Given the description of an element on the screen output the (x, y) to click on. 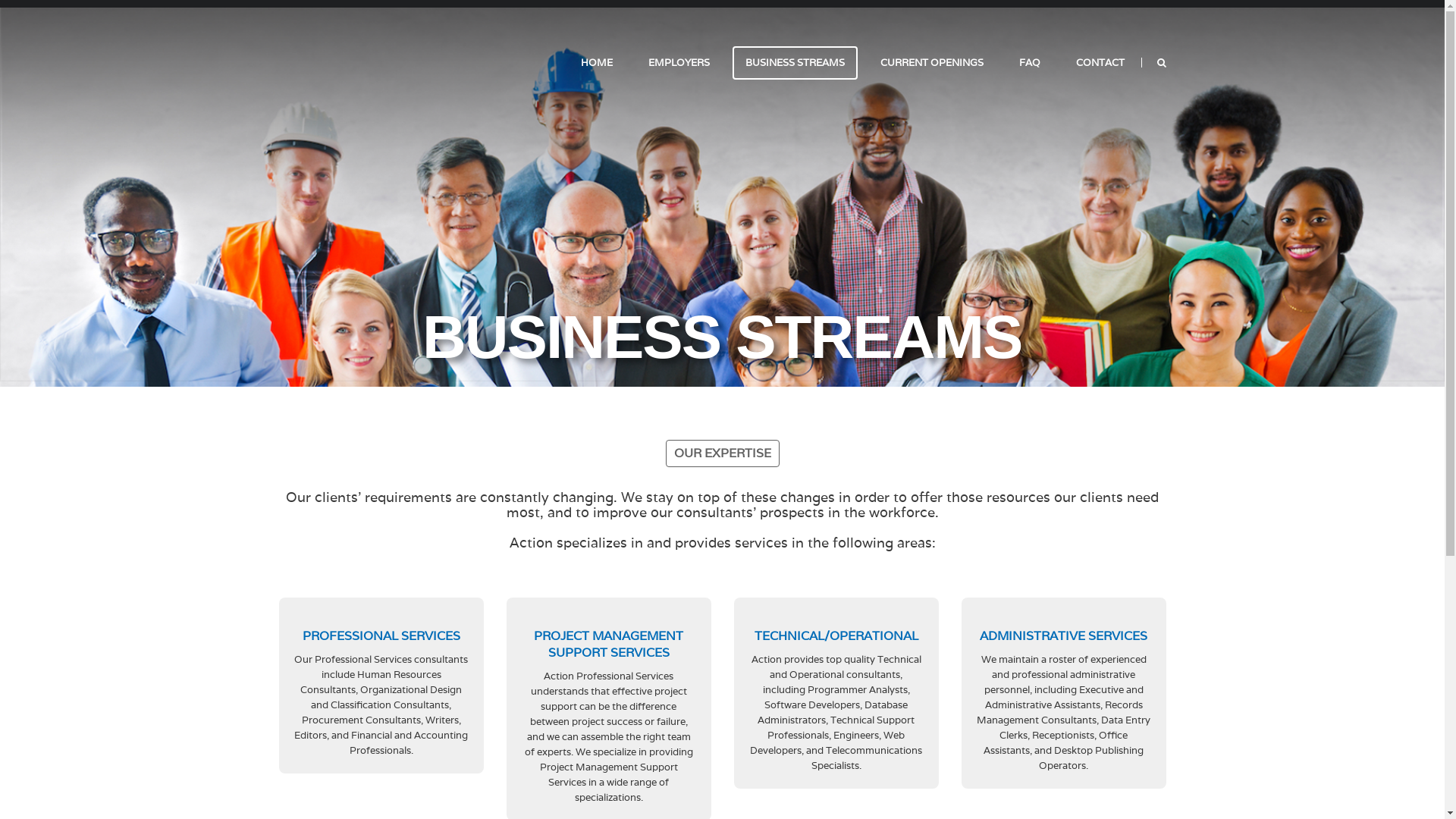
CURRENT OPENINGS Element type: text (931, 62)
HOME Element type: text (595, 62)
SKIP TO PRIMARY CONTENT Element type: text (633, 62)
CONTACT Element type: text (1100, 62)
FAQ Element type: text (1028, 62)
EMPLOYERS Element type: text (678, 62)
SKIP TO SECONDARY CONTENT Element type: text (641, 62)
BUSINESS STREAMS Element type: text (794, 62)
